Given the description of an element on the screen output the (x, y) to click on. 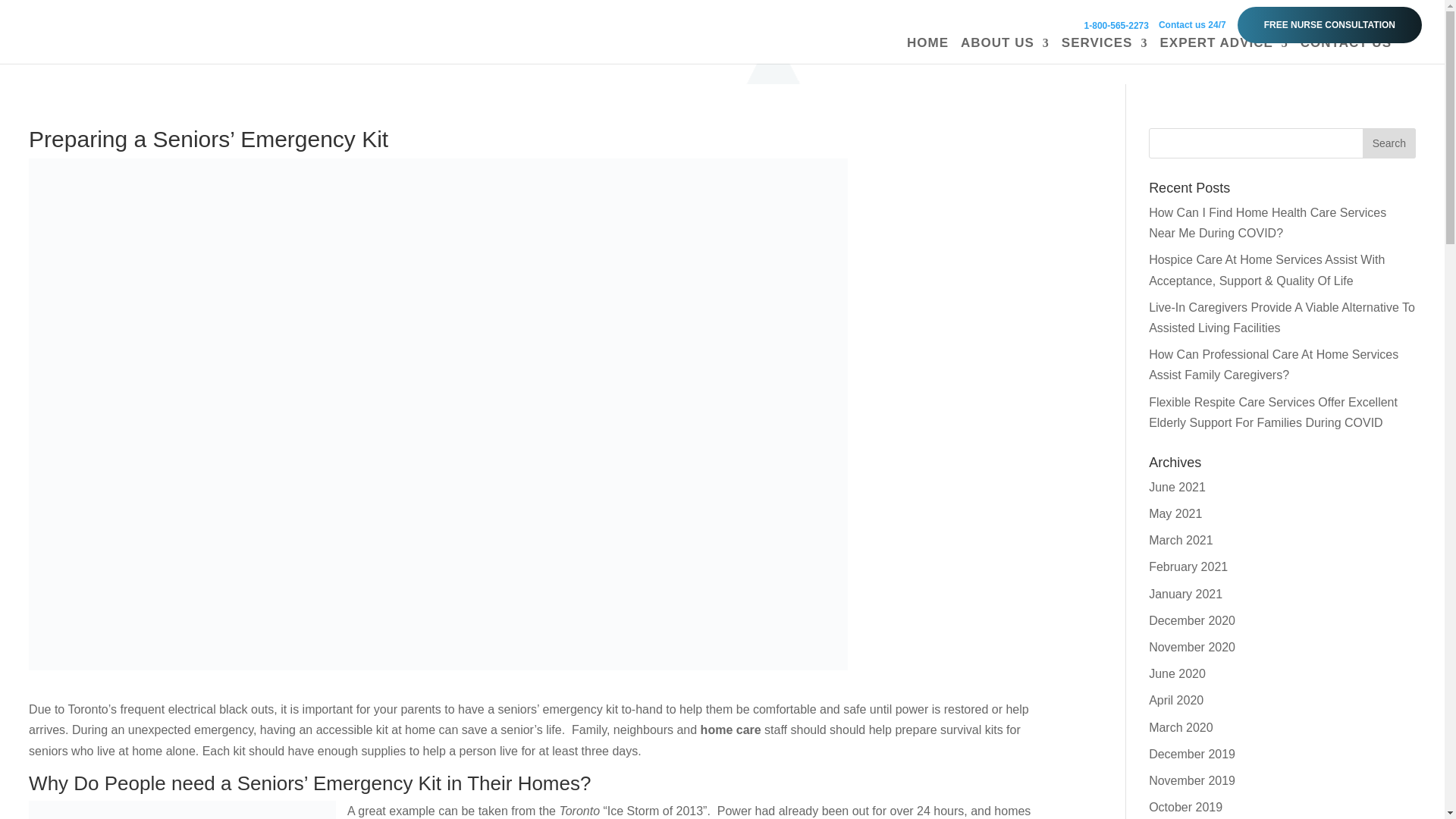
HOME (928, 50)
1-800-565-2273 (1116, 25)
SERVICES (1104, 50)
ABOUT US (1004, 50)
Search (1388, 142)
EXPERT ADVICE (1222, 50)
FREE NURSE CONSULTATION (1329, 24)
CONTACT US (1345, 50)
